Given the description of an element on the screen output the (x, y) to click on. 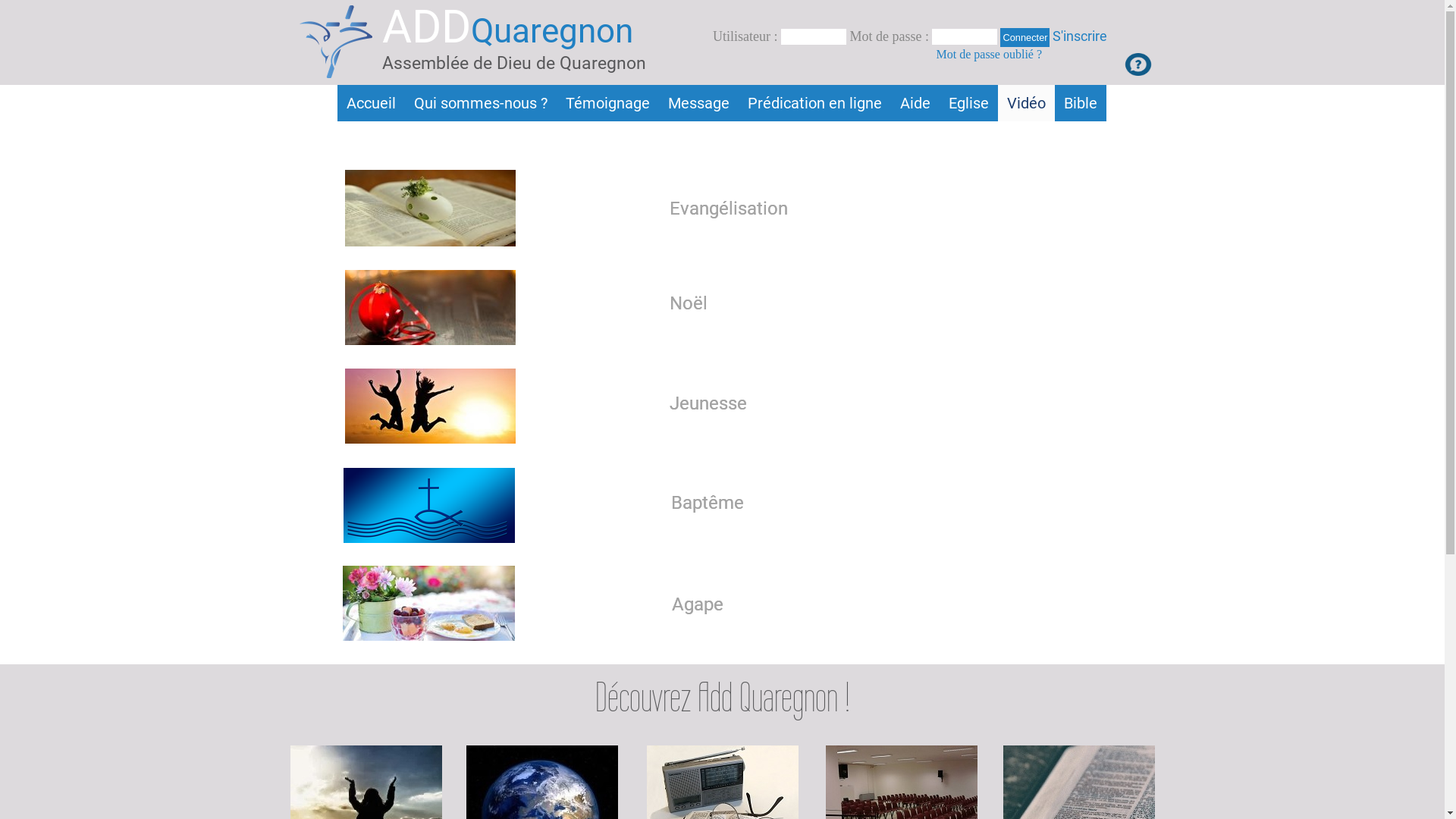
J'ai besoin d'aide pour m'inscrire ou me connecter au site Element type: hover (1137, 64)
Accueil Element type: text (370, 102)
Message Element type: text (697, 102)
Qui sommes-nous ? Element type: text (480, 102)
Agape Element type: text (697, 604)
Eglise Element type: text (967, 102)
Bible Element type: text (1079, 102)
Jeunesse Element type: text (707, 403)
Aide Element type: text (914, 102)
